Given the description of an element on the screen output the (x, y) to click on. 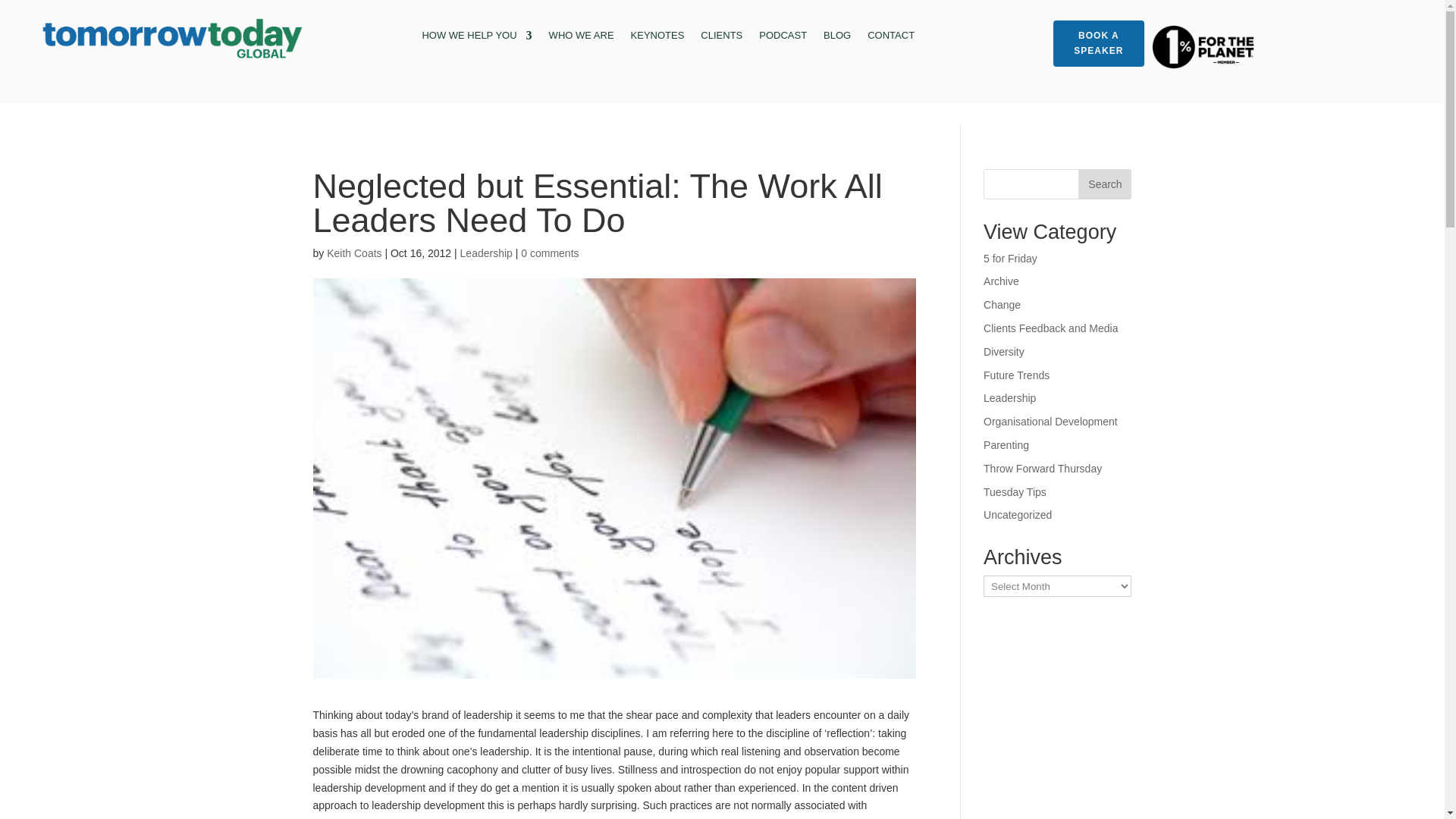
Organisational Development (1051, 421)
Future Trends (1016, 375)
Archive (1001, 281)
Change (1002, 304)
HOW WE HELP YOU (476, 38)
KEYNOTES (657, 38)
Logotype-03 (174, 39)
Keith Coats (353, 253)
CONTACT (890, 38)
Tuesday Tips (1015, 491)
Search (1104, 183)
Throw Forward Thursday (1043, 468)
BOOK A SPEAKER (1098, 43)
CLIENTS (721, 38)
0 comments (549, 253)
